Given the description of an element on the screen output the (x, y) to click on. 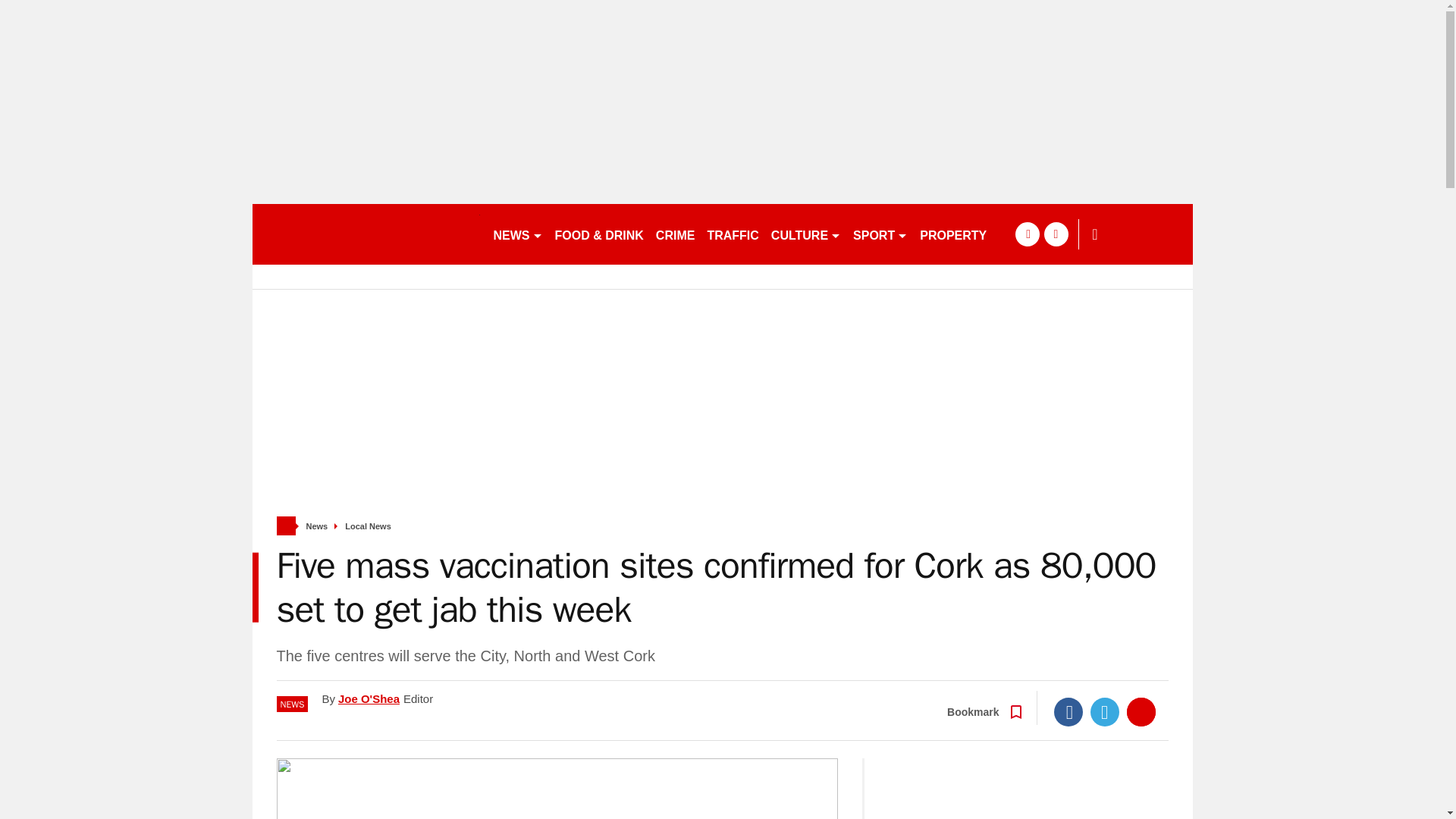
BUSINESS (1029, 233)
SPORT (880, 233)
Facebook (1068, 711)
corklive (365, 233)
Twitter (1104, 711)
PROPERTY (953, 233)
twitter (1055, 233)
facebook (1026, 233)
CULTURE (806, 233)
NEWS (517, 233)
CRIME (675, 233)
TRAFFIC (732, 233)
